Given the description of an element on the screen output the (x, y) to click on. 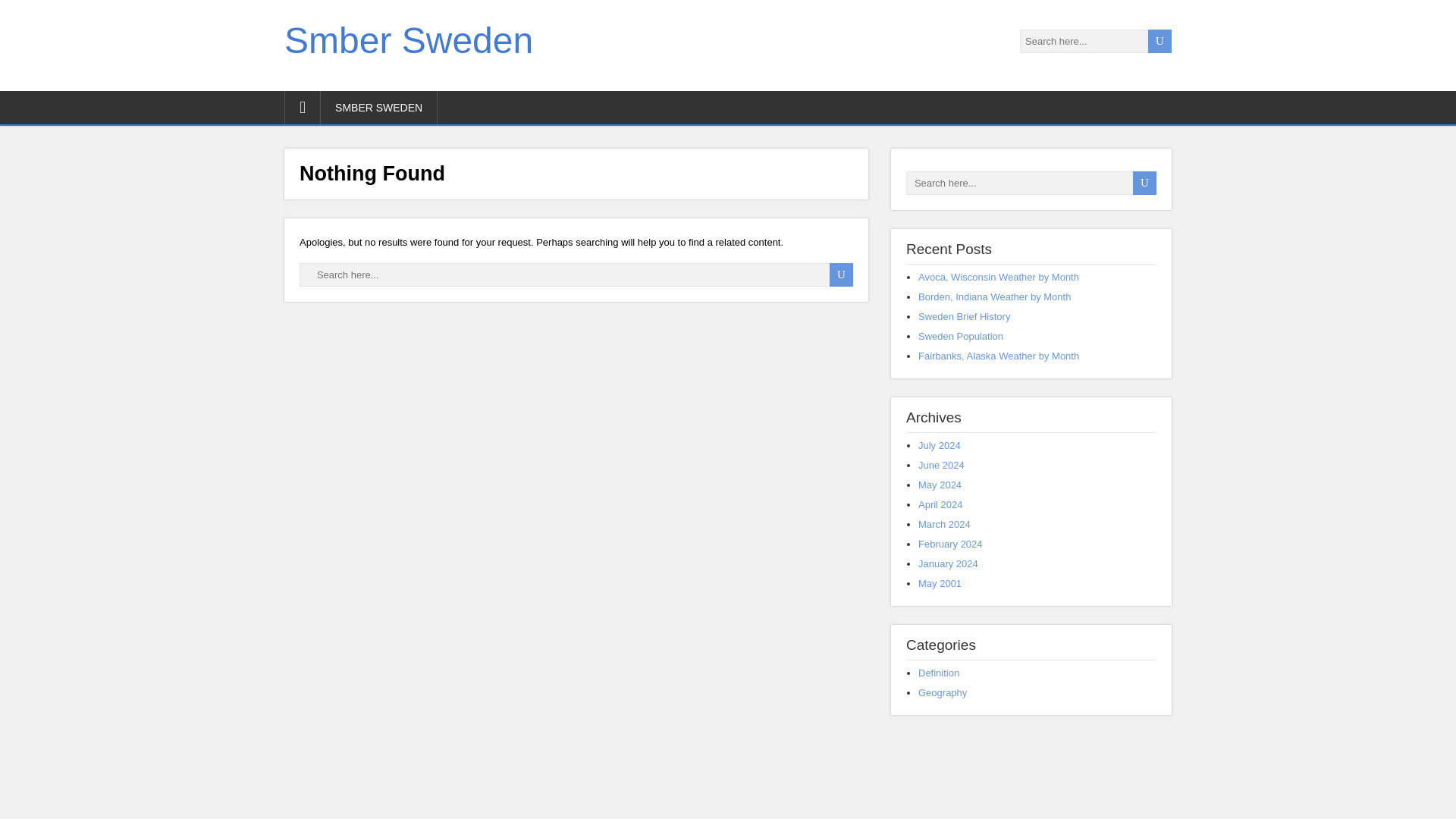
May 2001 (939, 583)
U (1144, 182)
May 2024 (939, 484)
Geography (942, 692)
Definition (938, 672)
Fairbanks, Alaska Weather by Month (998, 355)
U (841, 274)
July 2024 (939, 445)
U (1144, 182)
U (841, 274)
April 2024 (940, 504)
SMBER SWEDEN (379, 107)
February 2024 (950, 543)
March 2024 (944, 523)
Sweden Population (960, 336)
